Given the description of an element on the screen output the (x, y) to click on. 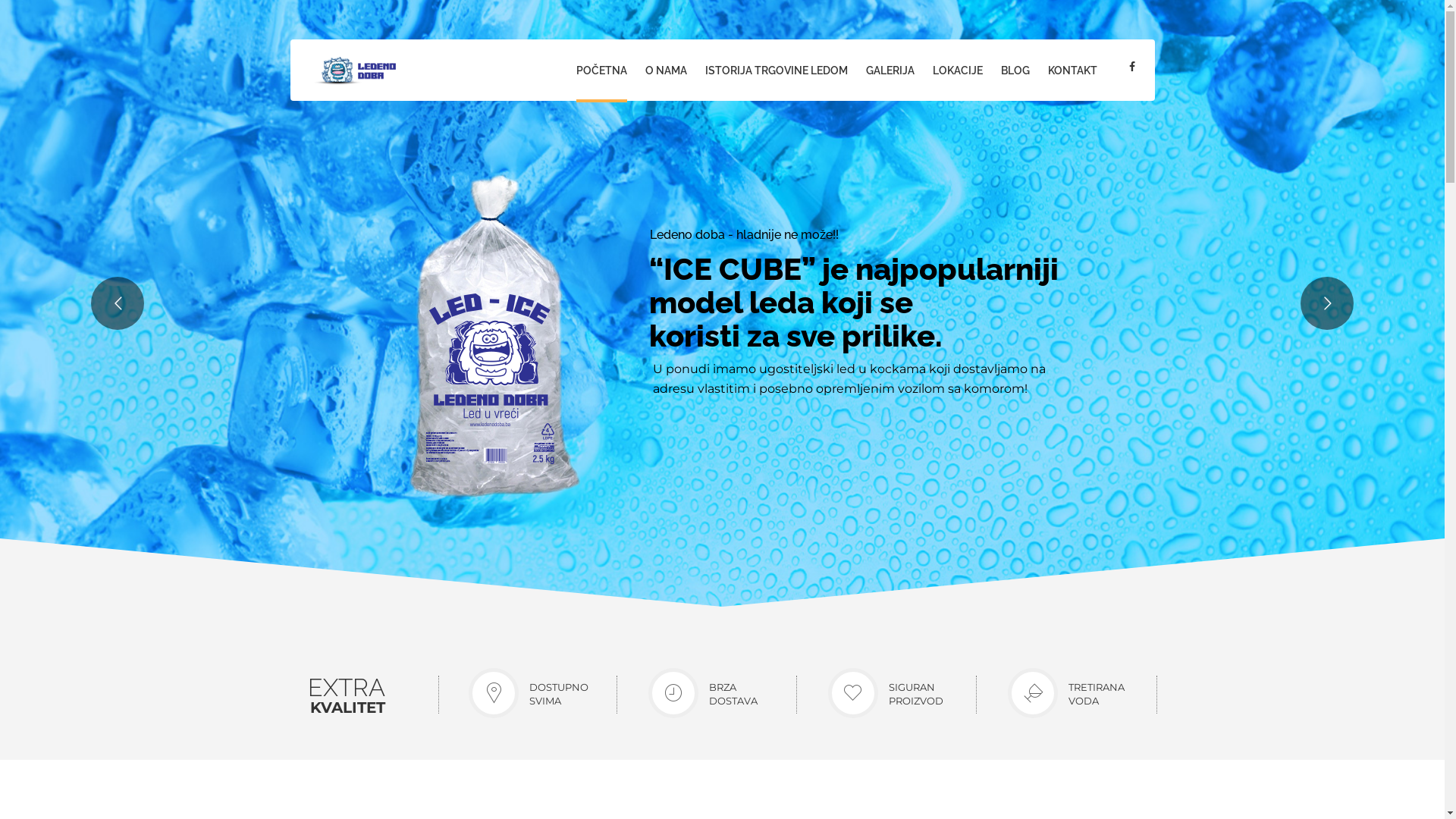
ISTORIJA TRGOVINE LEDOM Element type: text (776, 70)
O NAMA Element type: text (665, 70)
KONTAKT Element type: text (1072, 70)
BLOG Element type: text (1015, 70)
LOKACIJE Element type: text (957, 70)
GALERIJA Element type: text (890, 70)
